Given the description of an element on the screen output the (x, y) to click on. 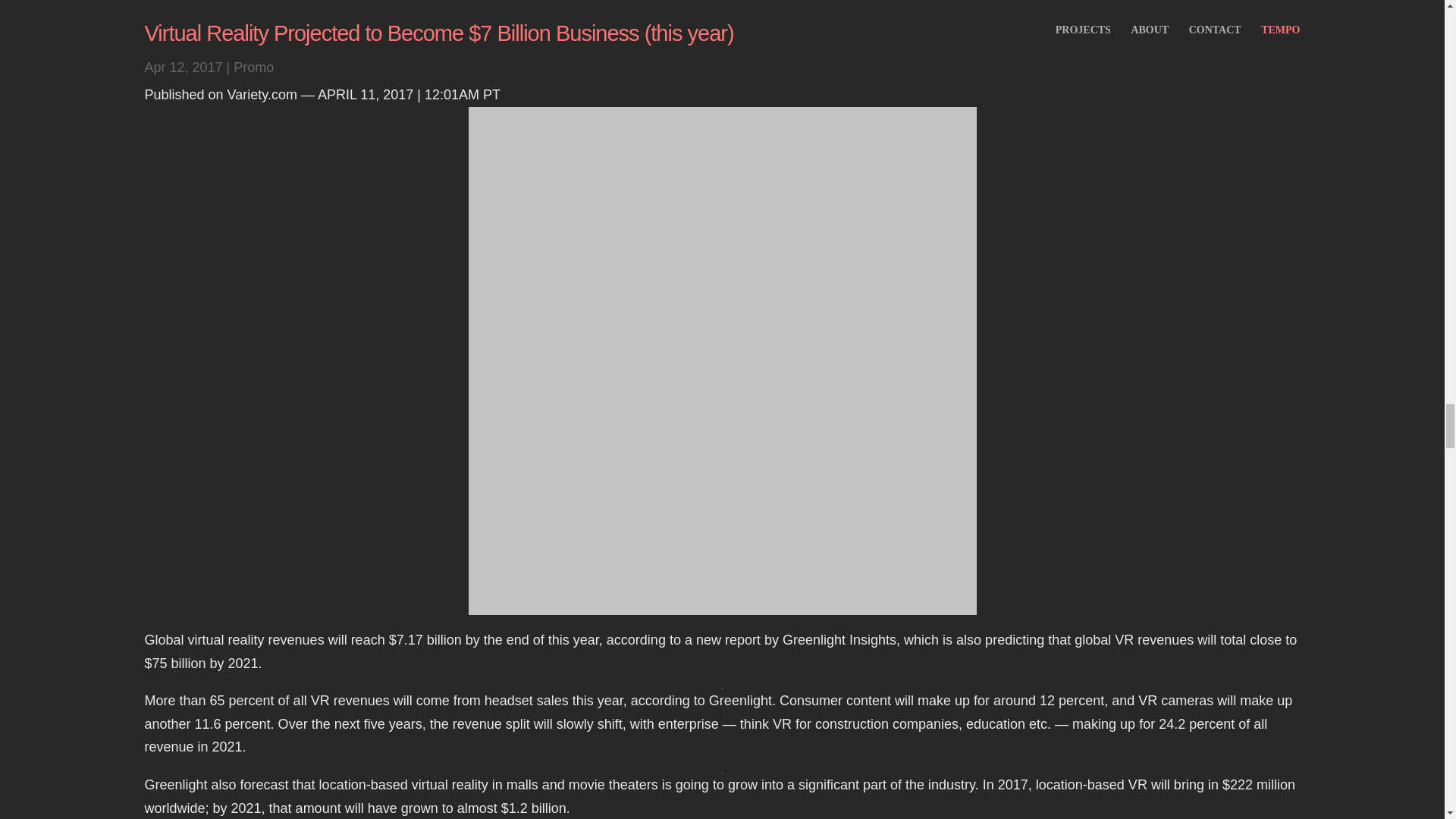
Promo (252, 67)
virtual reality (225, 639)
Greenlight Insights (839, 639)
